Given the description of an element on the screen output the (x, y) to click on. 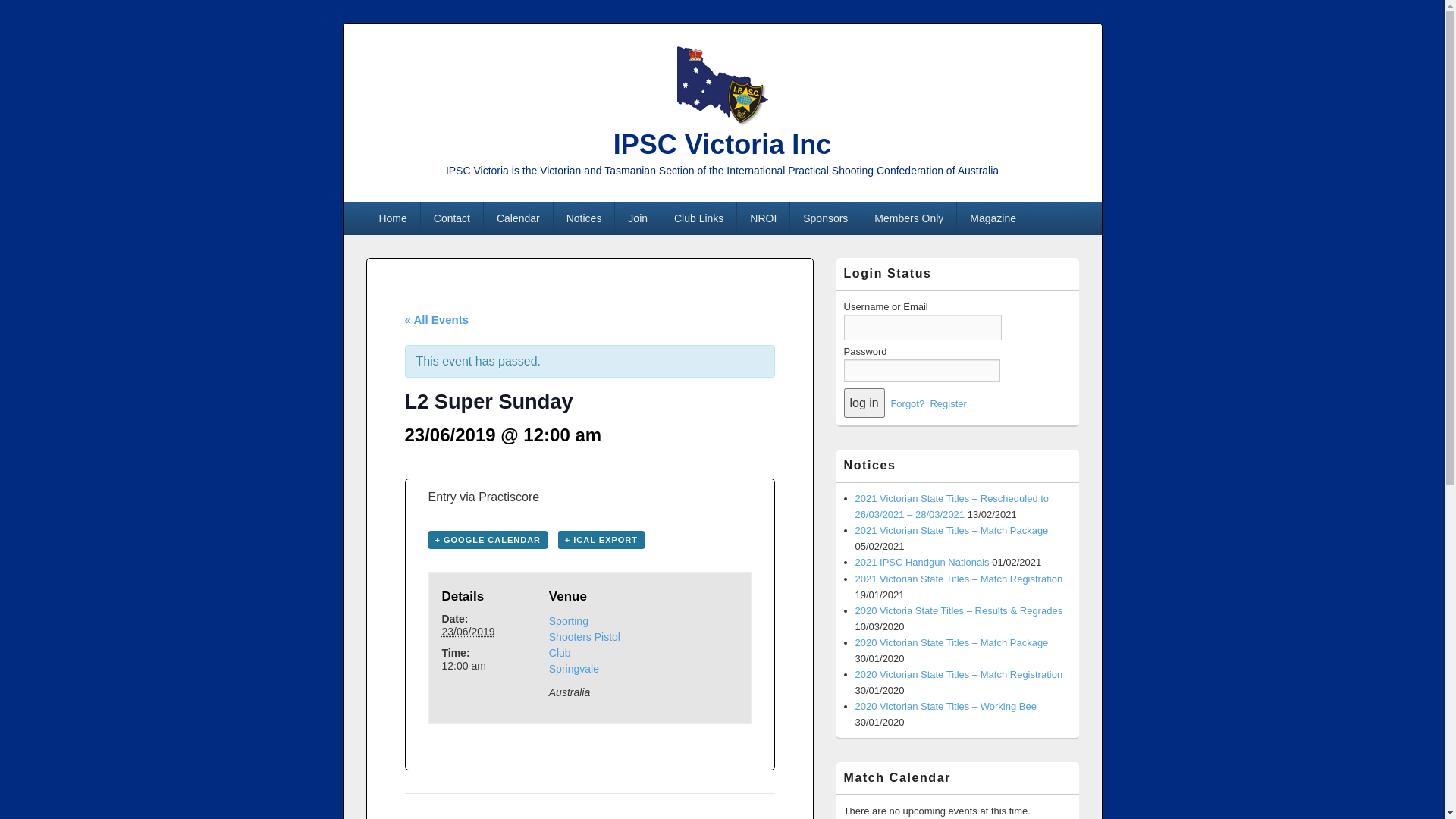
Home Element type: text (392, 218)
Register Element type: text (947, 403)
Contact Element type: text (451, 218)
IPSC Victoria Inc Element type: text (722, 144)
Magazine Element type: text (993, 218)
+ ICAL EXPORT Element type: text (601, 539)
log in Element type: text (863, 402)
NROI Element type: text (763, 218)
Join Element type: text (637, 218)
Members Only Element type: text (908, 218)
Calendar Element type: text (517, 218)
Notices Element type: text (584, 218)
Forgot? Element type: text (907, 403)
2021 IPSC Handgun Nationals Element type: text (922, 561)
Sponsors Element type: text (825, 218)
Club Links Element type: text (698, 218)
+ GOOGLE CALENDAR Element type: text (487, 539)
